Given the description of an element on the screen output the (x, y) to click on. 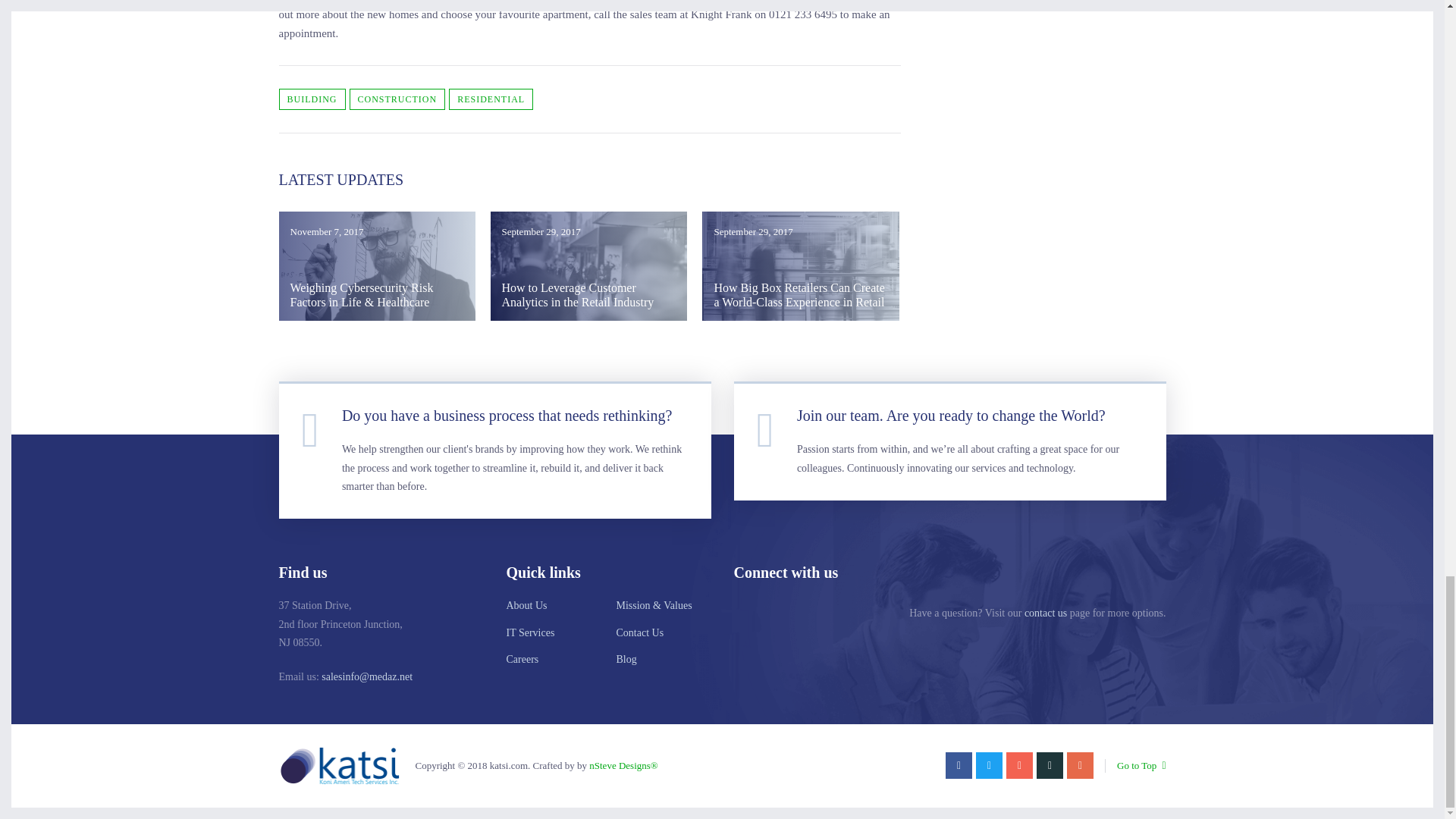
man-draws-various-growth-charts-calculating (377, 266)
